Given the description of an element on the screen output the (x, y) to click on. 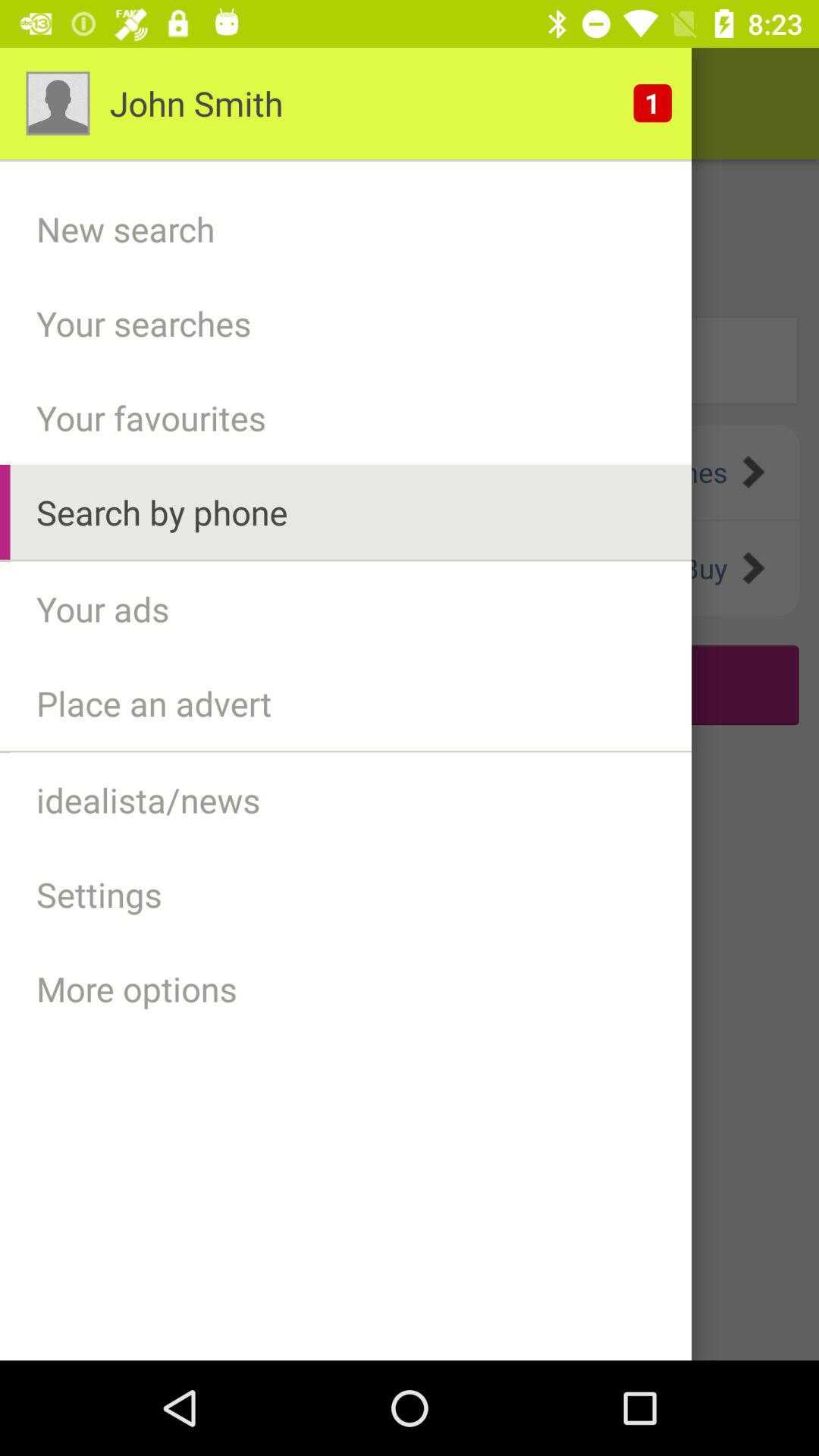
click on the text below your ads (409, 685)
